Given the description of an element on the screen output the (x, y) to click on. 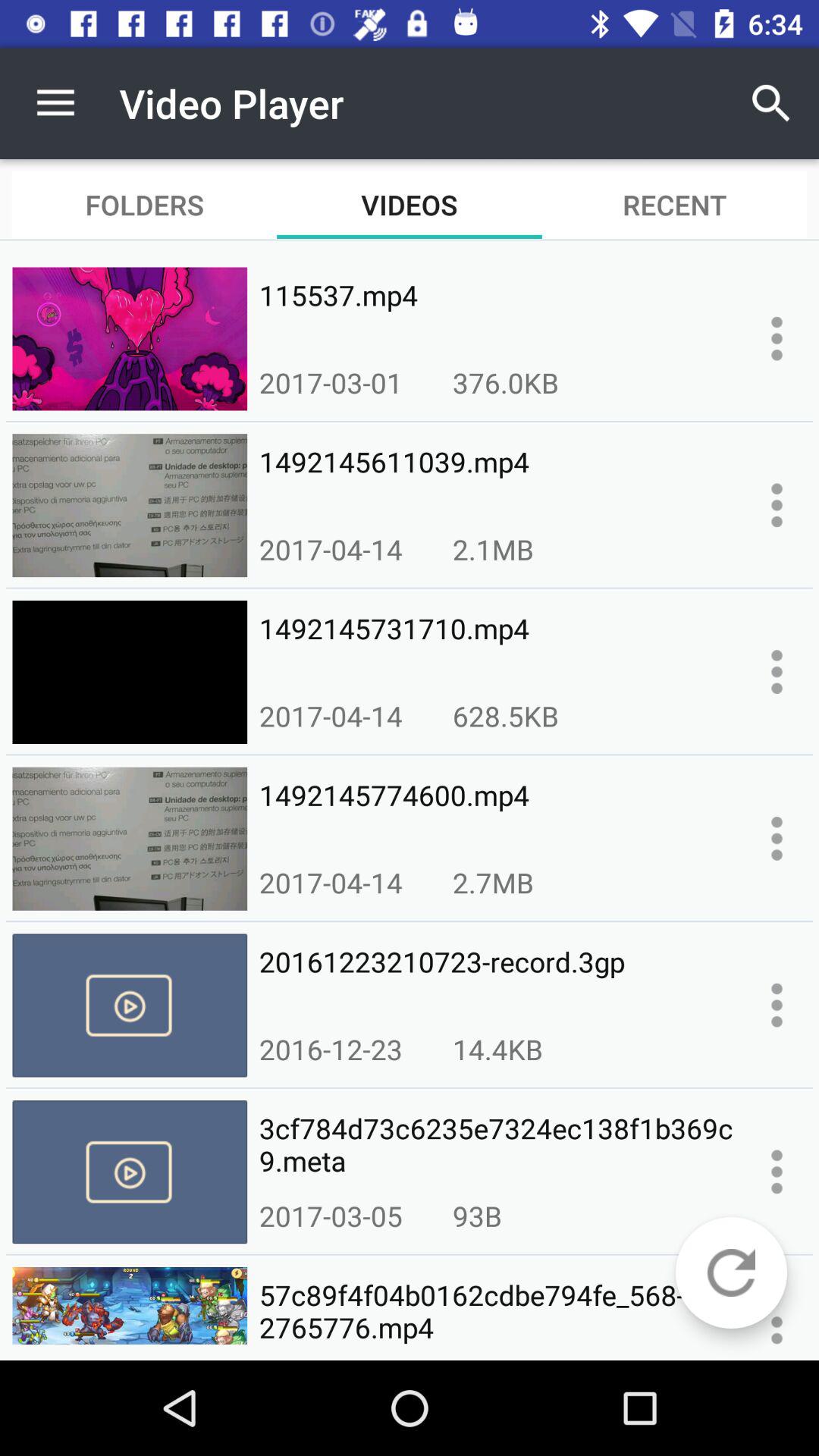
more info (776, 838)
